Given the description of an element on the screen output the (x, y) to click on. 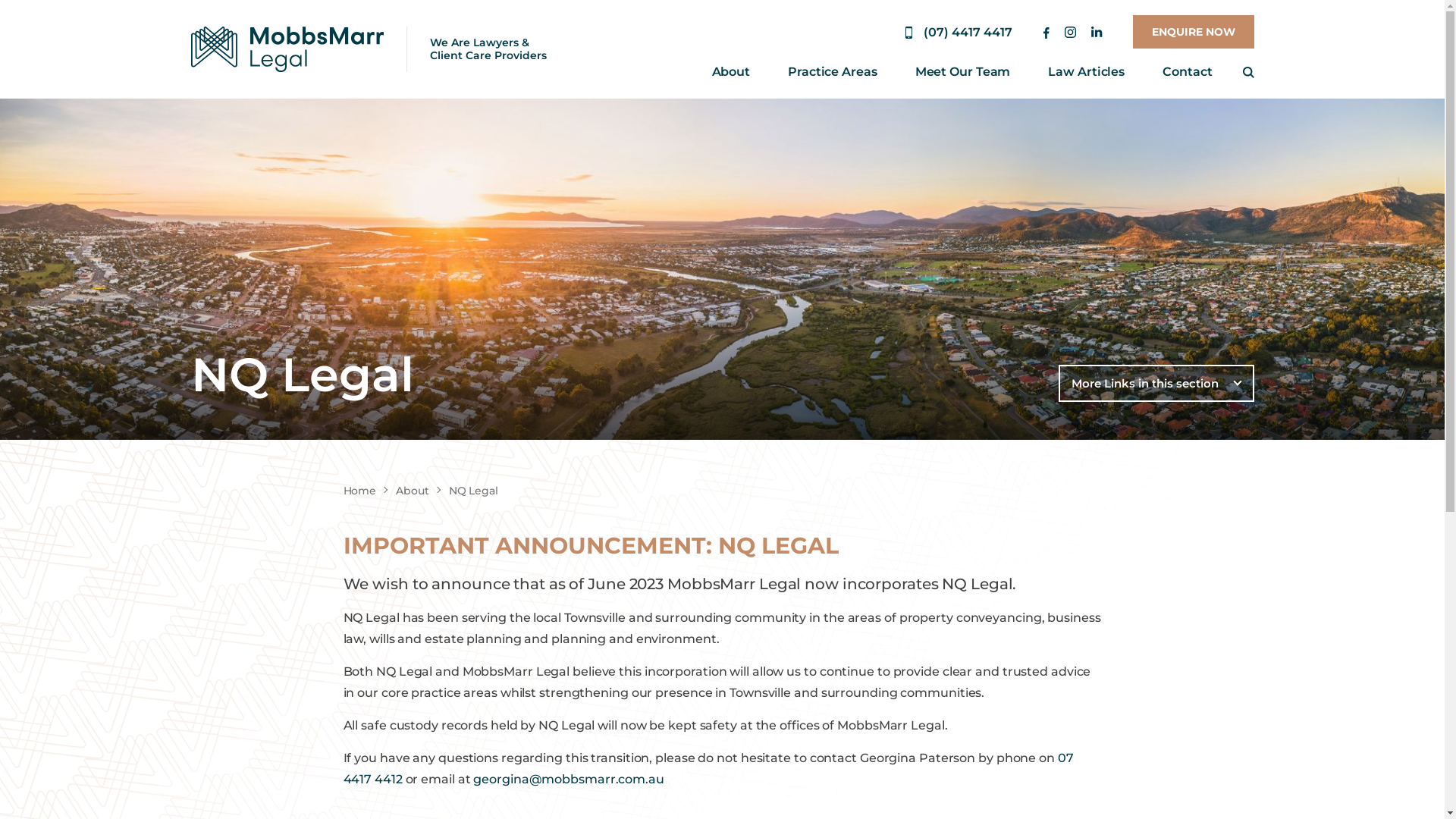
Home Element type: text (359, 490)
Meet Our Team Element type: text (962, 71)
07 4417 4412 Element type: text (707, 768)
About Element type: text (412, 490)
Contact Element type: text (1186, 71)
About Element type: text (731, 71)
ENQUIRE NOW Element type: text (1193, 31)
Law Articles Element type: text (1086, 71)
georgina@mobbsmarr.com.au Element type: text (568, 778)
Practice Areas Element type: text (832, 71)
(07) 4417 4417 Element type: text (958, 32)
